Given the description of an element on the screen output the (x, y) to click on. 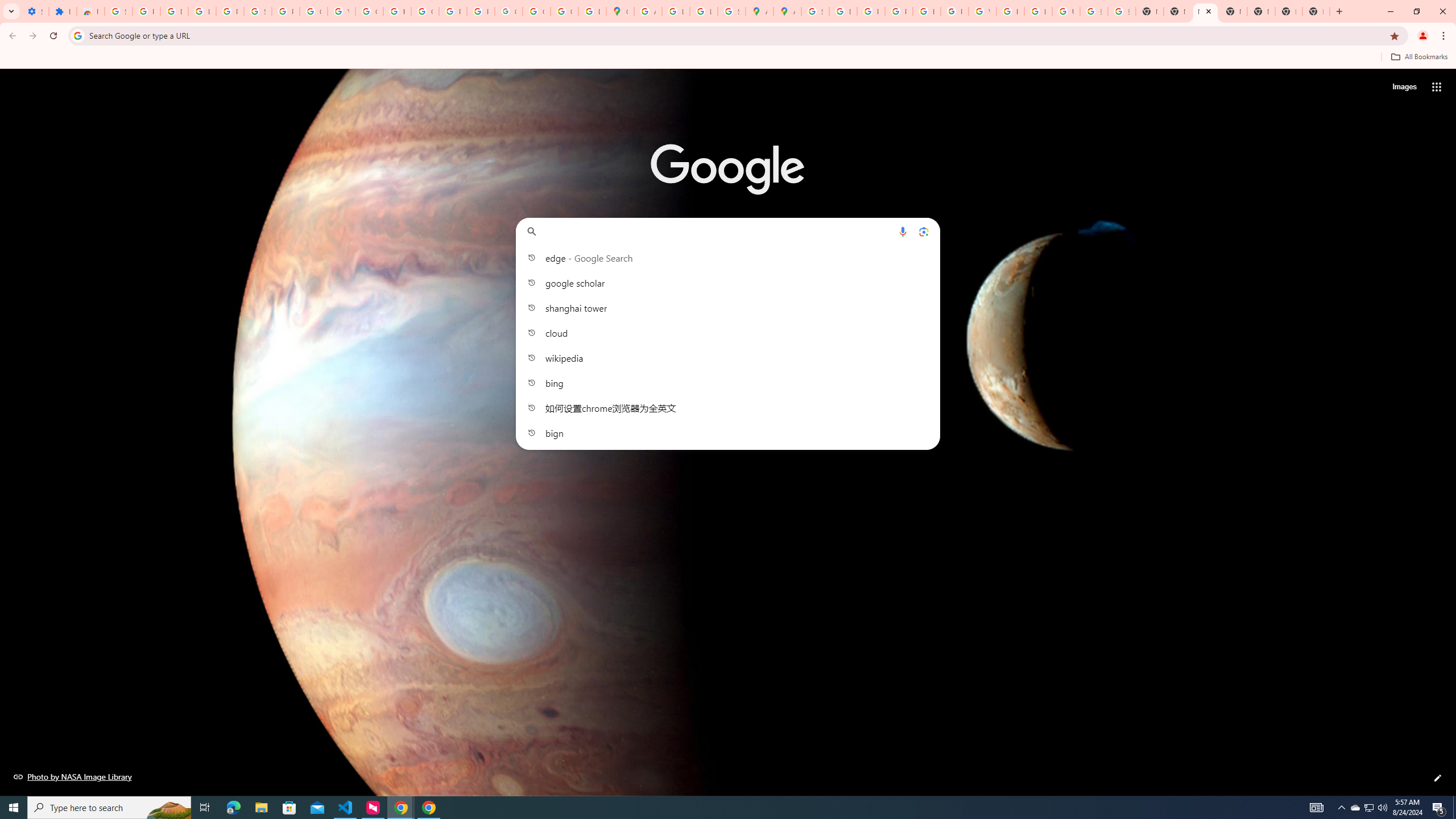
Settings - On startup (34, 11)
